Given the description of an element on the screen output the (x, y) to click on. 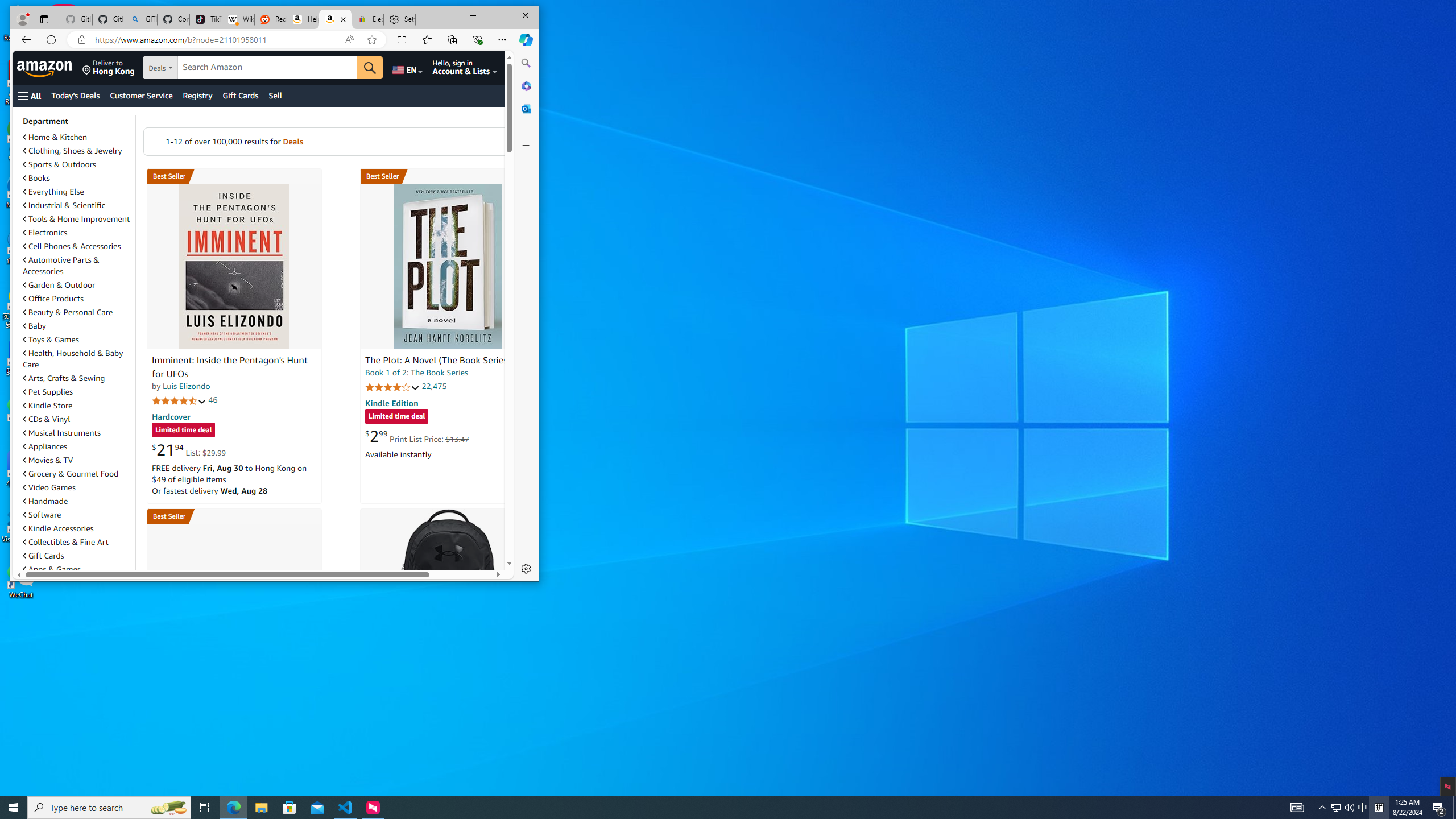
Hardcover (170, 416)
Task View (204, 807)
Video Games (49, 487)
Sports & Outdoors (77, 164)
Electronics, Cars, Fashion, Collectibles & More | eBay (367, 19)
Grocery & Gourmet Food (77, 473)
Tray Input Indicator - Chinese (Simplified, China) (1378, 807)
Cell Phones & Accessories (71, 245)
Health, Household & Baby Care (77, 358)
